Given the description of an element on the screen output the (x, y) to click on. 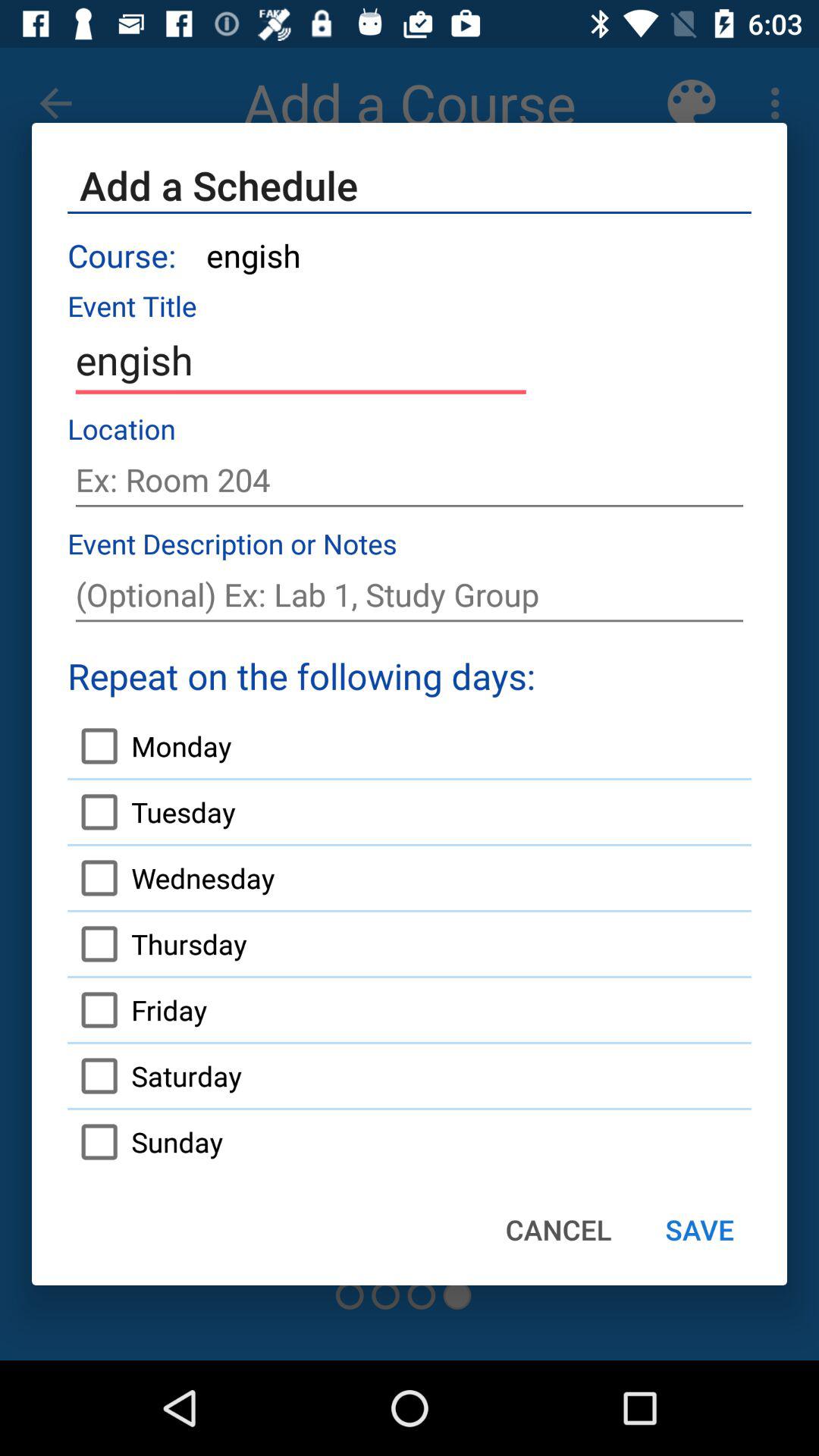
flip until the sunday item (144, 1141)
